Given the description of an element on the screen output the (x, y) to click on. 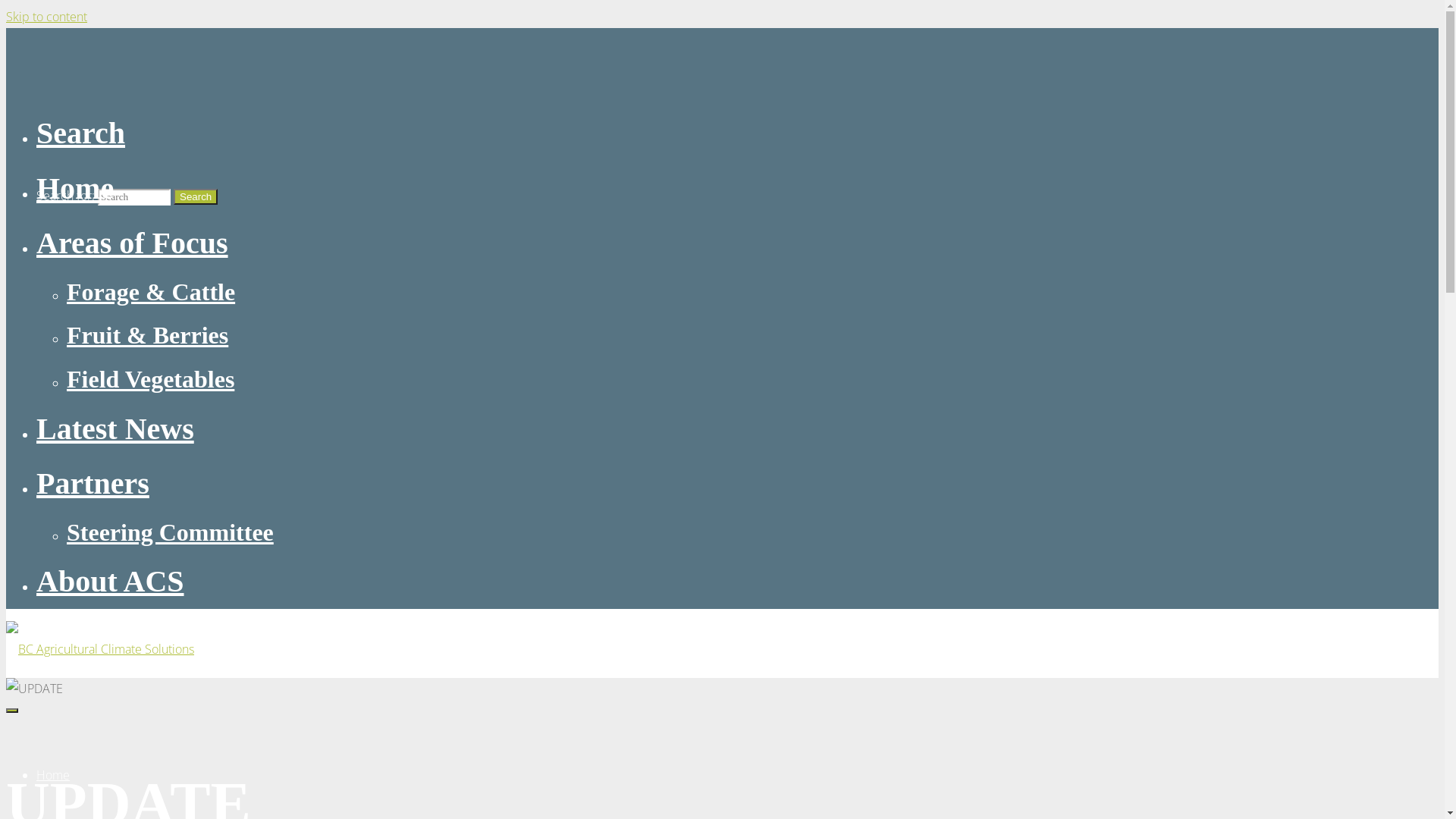
Search Element type: text (80, 133)
About ACS Element type: text (110, 581)
Forage & Cattle Element type: text (150, 291)
Steering Committee Element type: text (169, 532)
Home Element type: text (74, 188)
BC Agricultural Climate Solutions Element type: hover (100, 648)
Skip to content Element type: text (46, 16)
Latest News Element type: text (115, 428)
Partners Element type: text (92, 483)
Fruit & Berries Element type: text (147, 334)
Areas of Focus Element type: text (132, 242)
Home Element type: text (52, 774)
Field Vegetables Element type: text (150, 378)
Search Element type: text (195, 196)
